Given the description of an element on the screen output the (x, y) to click on. 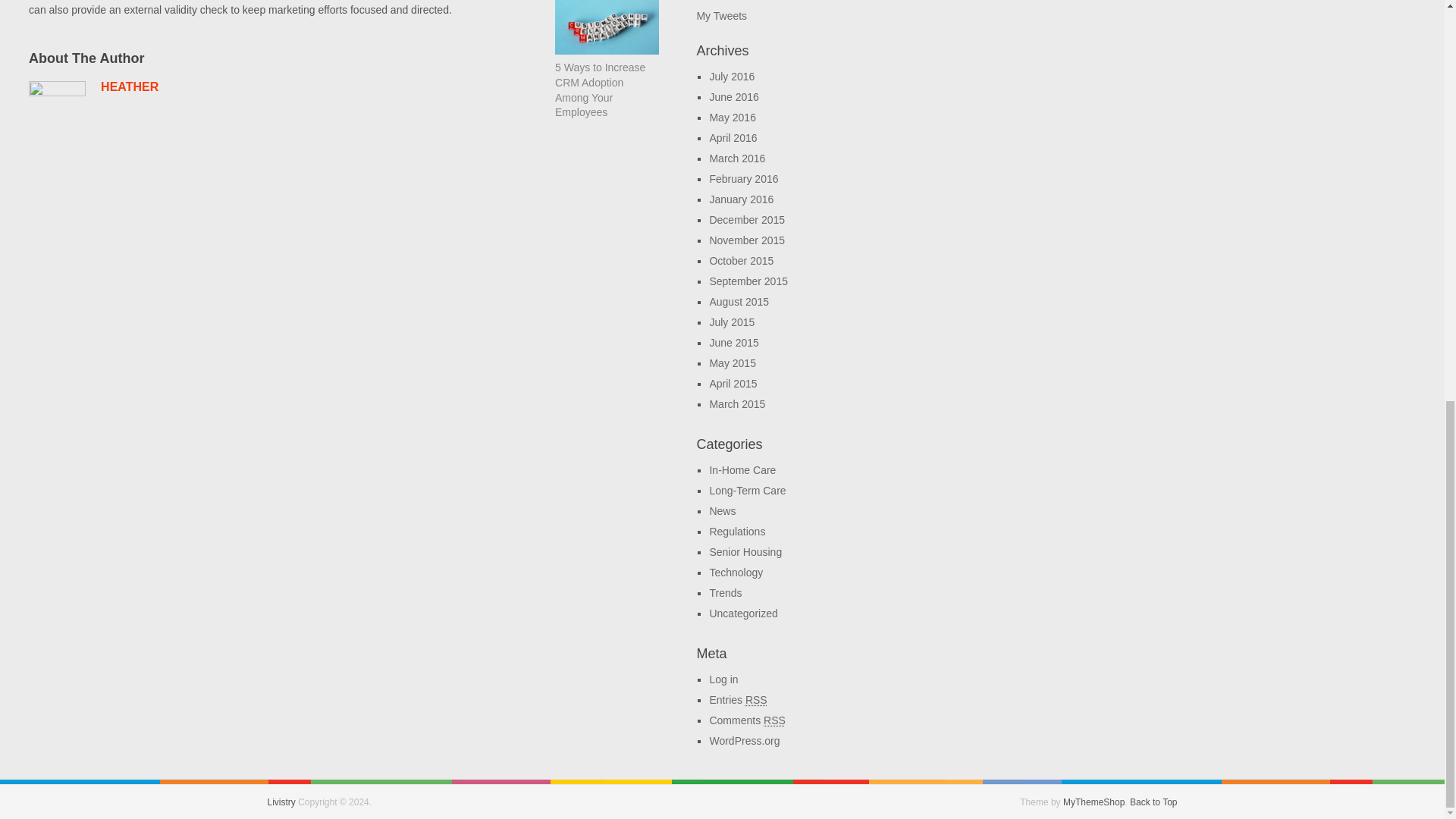
5 Ways to Increase CRM Adoption Among Your Employees (599, 89)
5 Ways to Increase CRM Adoption Among Your Employees (599, 89)
HEATHER (129, 86)
